Given the description of an element on the screen output the (x, y) to click on. 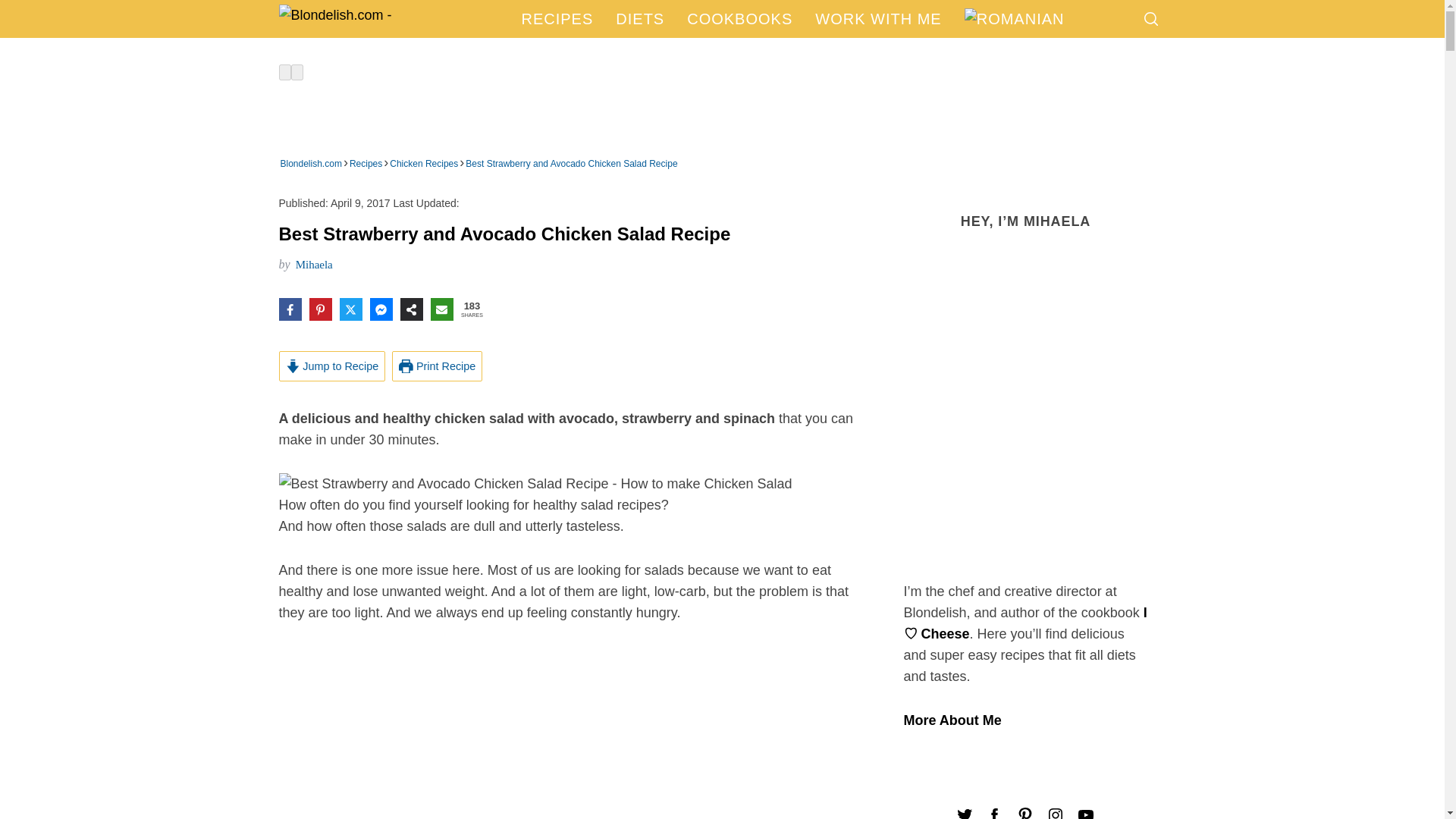
Print Recipe (436, 366)
DIETS (639, 18)
Go to the Chicken Recipes category archives. (424, 161)
Go to the Recipes category archives. (365, 161)
Mihaela (314, 264)
WORK WITH ME (877, 18)
Go to Blondelish.com. (311, 161)
COOKBOOKS (739, 18)
RECIPES (556, 18)
Blondelish.com (311, 161)
